Given the description of an element on the screen output the (x, y) to click on. 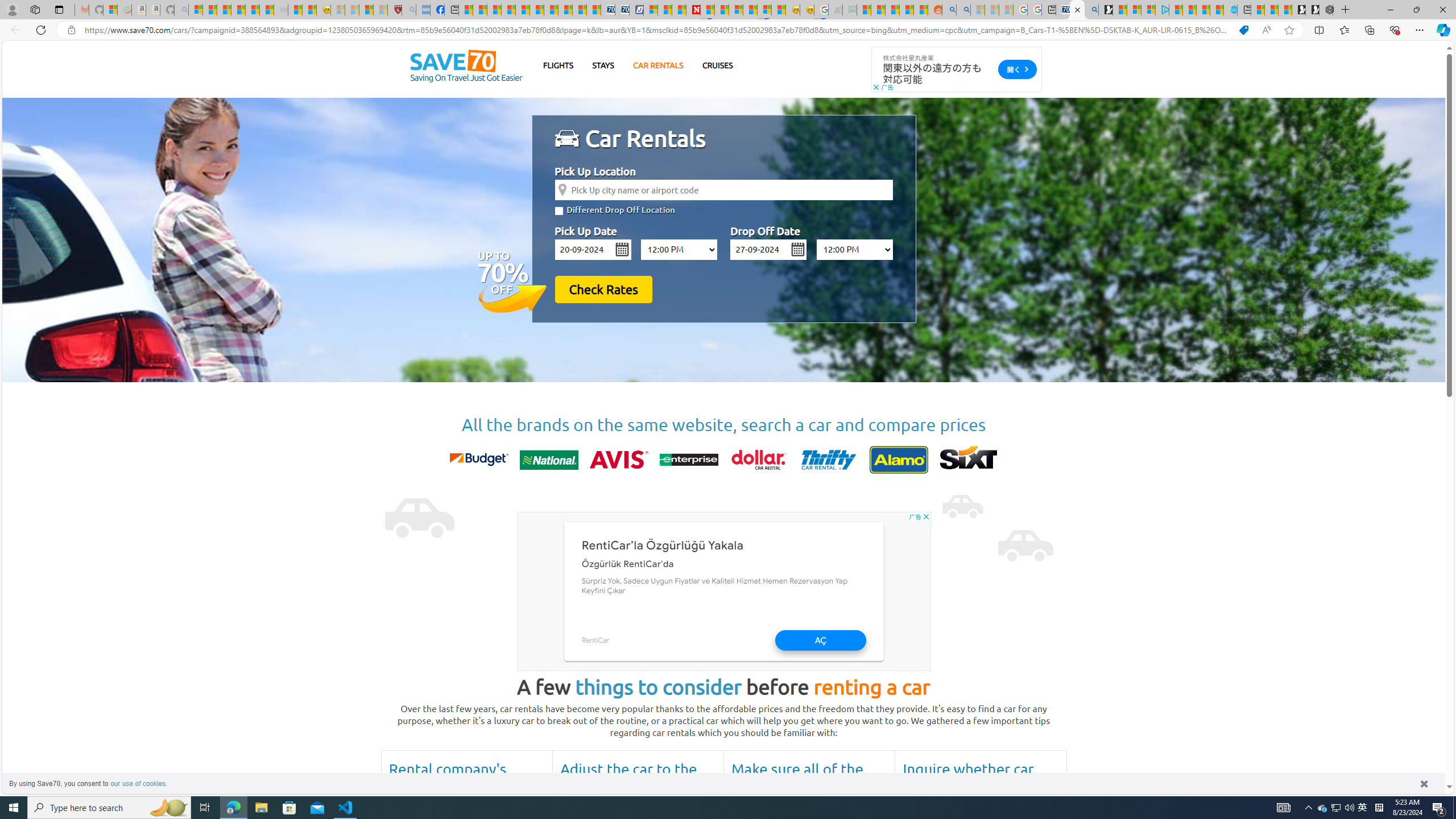
FLIGHTS (558, 65)
To get missing image descriptions, open the context menu. (568, 138)
Trusted Community Engagement and Contributions | Guidelines (707, 9)
Personal Profile (12, 9)
Restore (1416, 9)
Nordace - Nordace Siena Is Not An Ordinary Backpack (1326, 9)
Add this page to favorites (Ctrl+D) (1289, 29)
Microsoft Start - Sleeping (977, 9)
Refresh (40, 29)
MSNBC - MSN (863, 9)
